Given the description of an element on the screen output the (x, y) to click on. 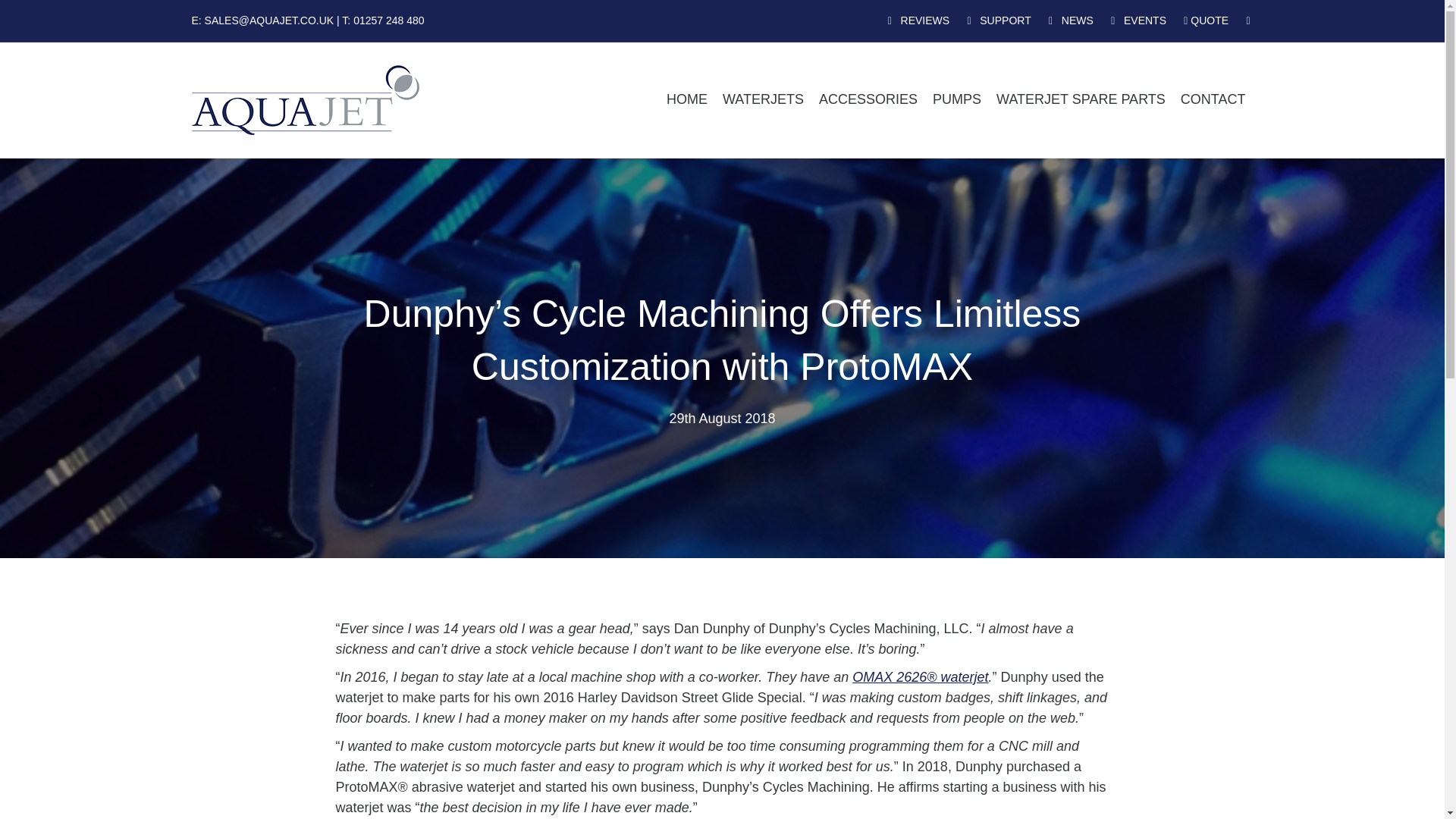
   SUPPORT (998, 20)
   NEWS (1070, 20)
   REVIEWS (918, 20)
PUMPS (956, 99)
HOME (686, 99)
WATERJET SPARE PARTS (1080, 99)
WATERJETS (762, 99)
ACCESSORIES (867, 99)
QUOTE (1206, 20)
Latest News (1070, 20)
   EVENTS (1138, 20)
CONTACT (1213, 99)
Customer Support (998, 20)
